Given the description of an element on the screen output the (x, y) to click on. 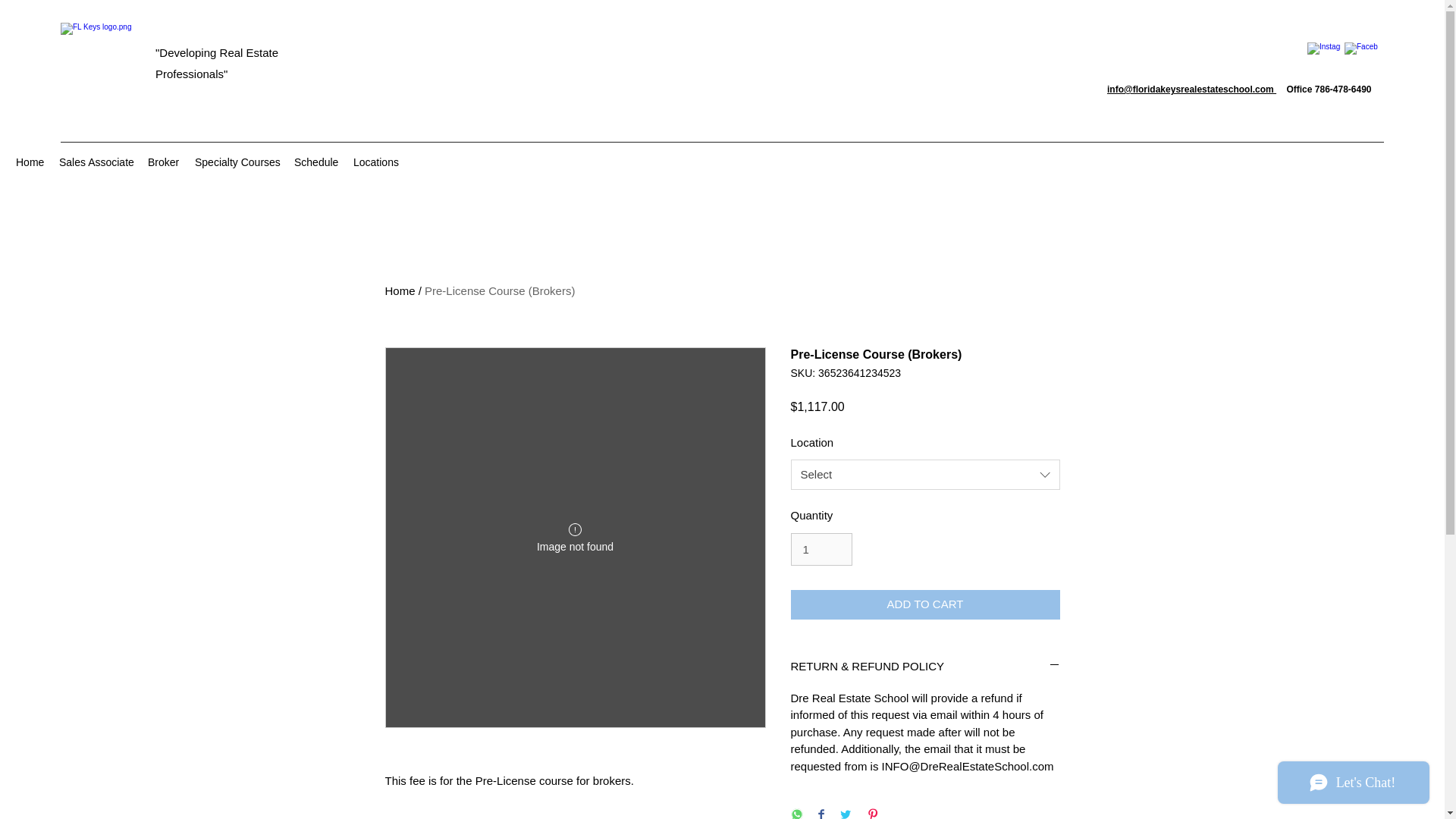
Select (924, 474)
Broker (163, 161)
Home (29, 161)
Sales Associate (94, 161)
Schedule (316, 161)
1 (820, 549)
Specialty Courses (236, 161)
Home (399, 290)
ADD TO CART (924, 604)
Locations (376, 161)
